Given the description of an element on the screen output the (x, y) to click on. 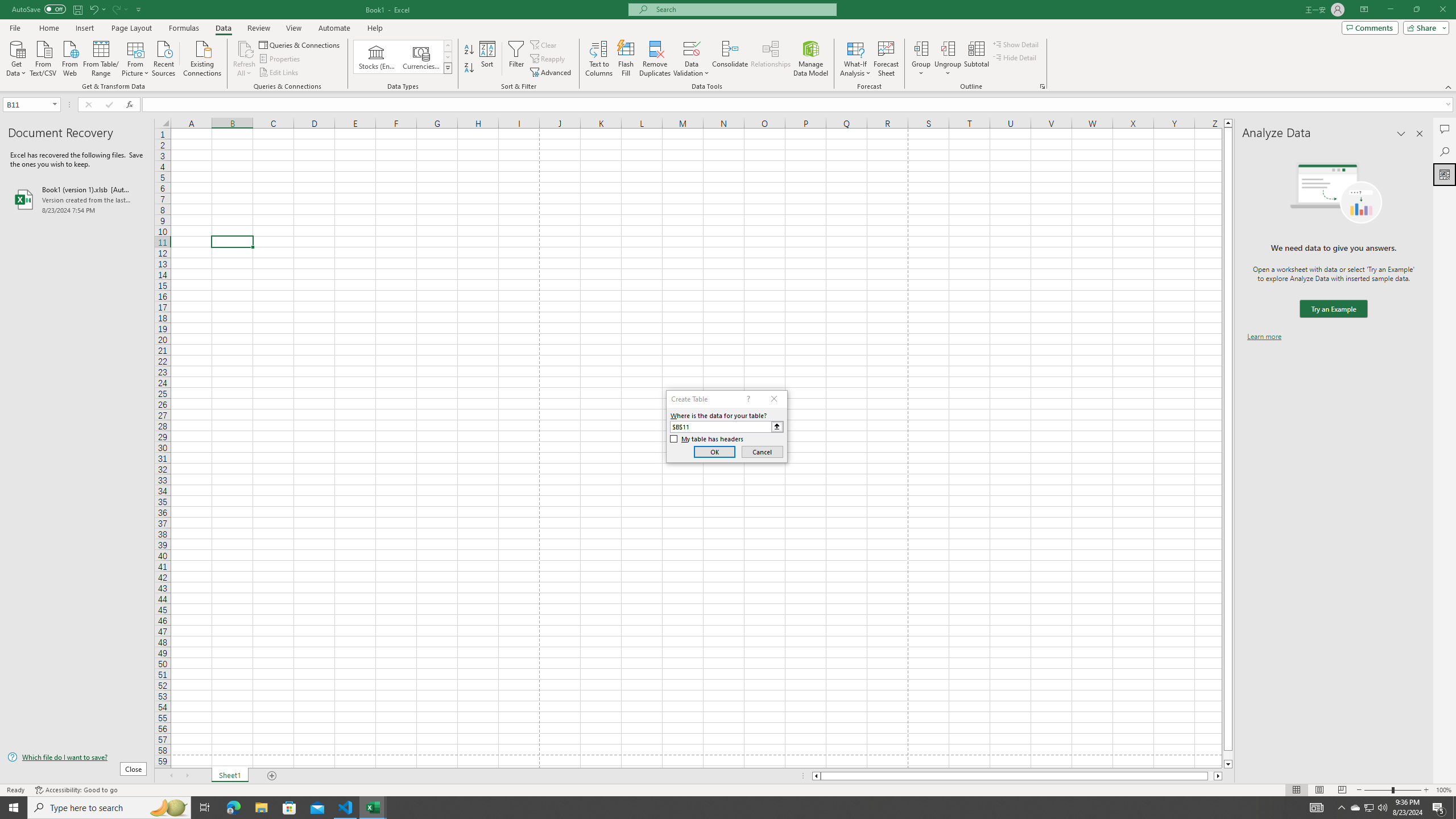
Currencies (English) (420, 56)
Hide Detail (1014, 56)
From Picture (135, 57)
Advanced... (551, 72)
